Given the description of an element on the screen output the (x, y) to click on. 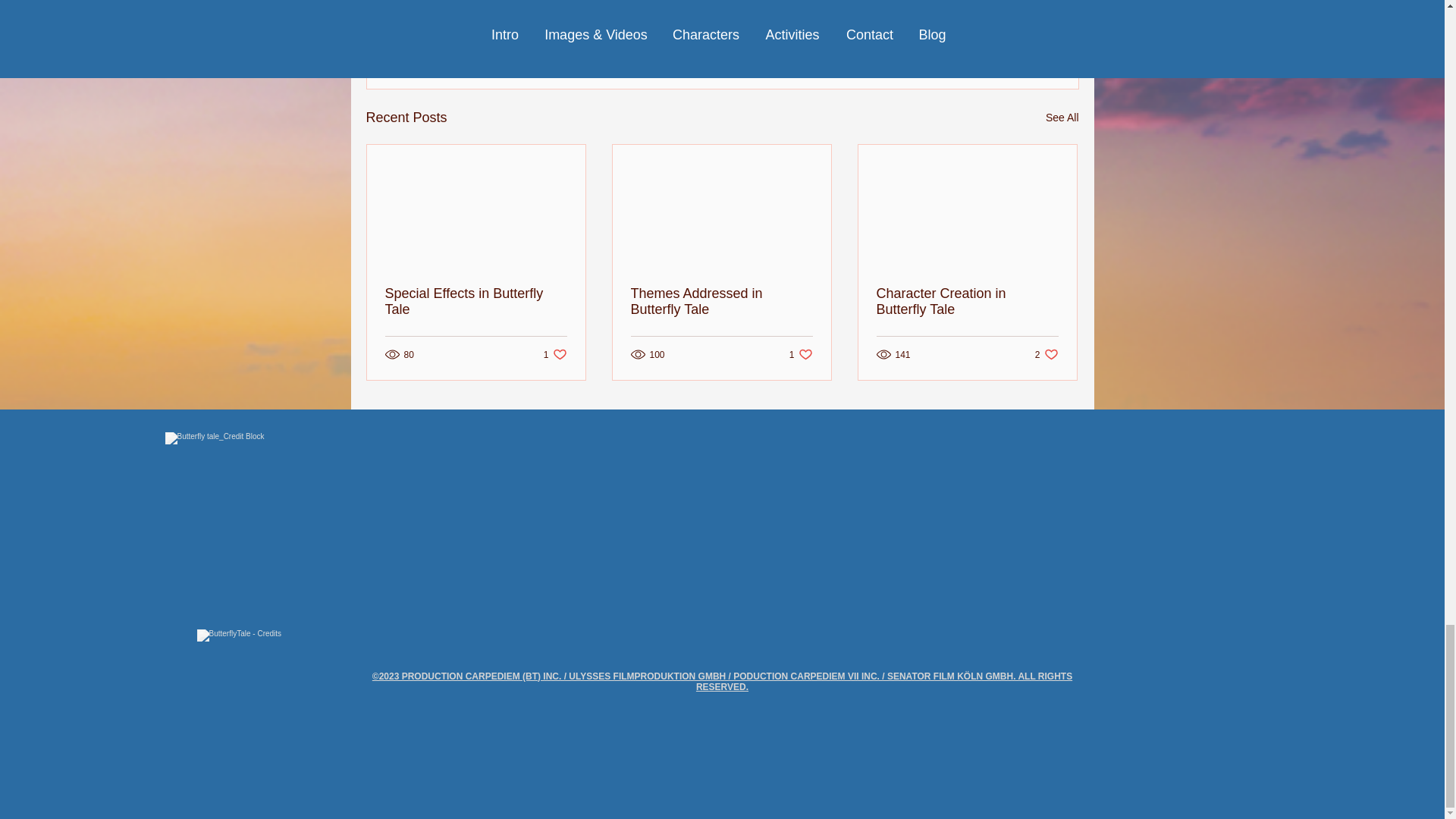
Themes Addressed in Butterfly Tale (721, 301)
See All (1061, 117)
ButterflyTale - Credits (1046, 354)
Character Creation in Butterfly Tale (555, 354)
Special Effects in Butterfly Tale (990, 34)
